Given the description of an element on the screen output the (x, y) to click on. 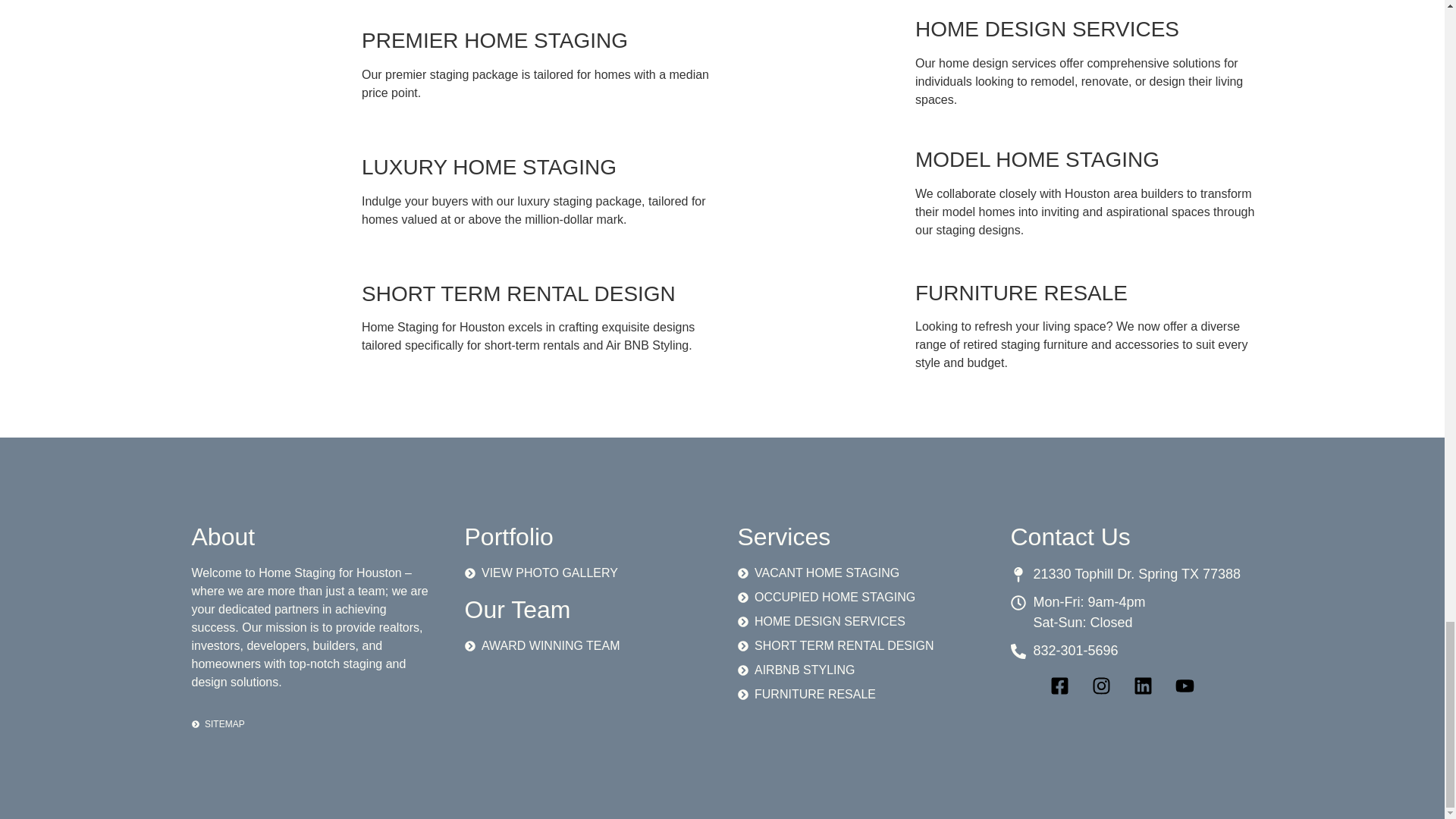
Portfolio 5 (269, 312)
Portfolio 3 (269, 59)
Portfolio 6 (823, 56)
Portfolio 4 (269, 185)
Portfolio 8 (823, 320)
Portfolio 7 (823, 187)
